Given the description of an element on the screen output the (x, y) to click on. 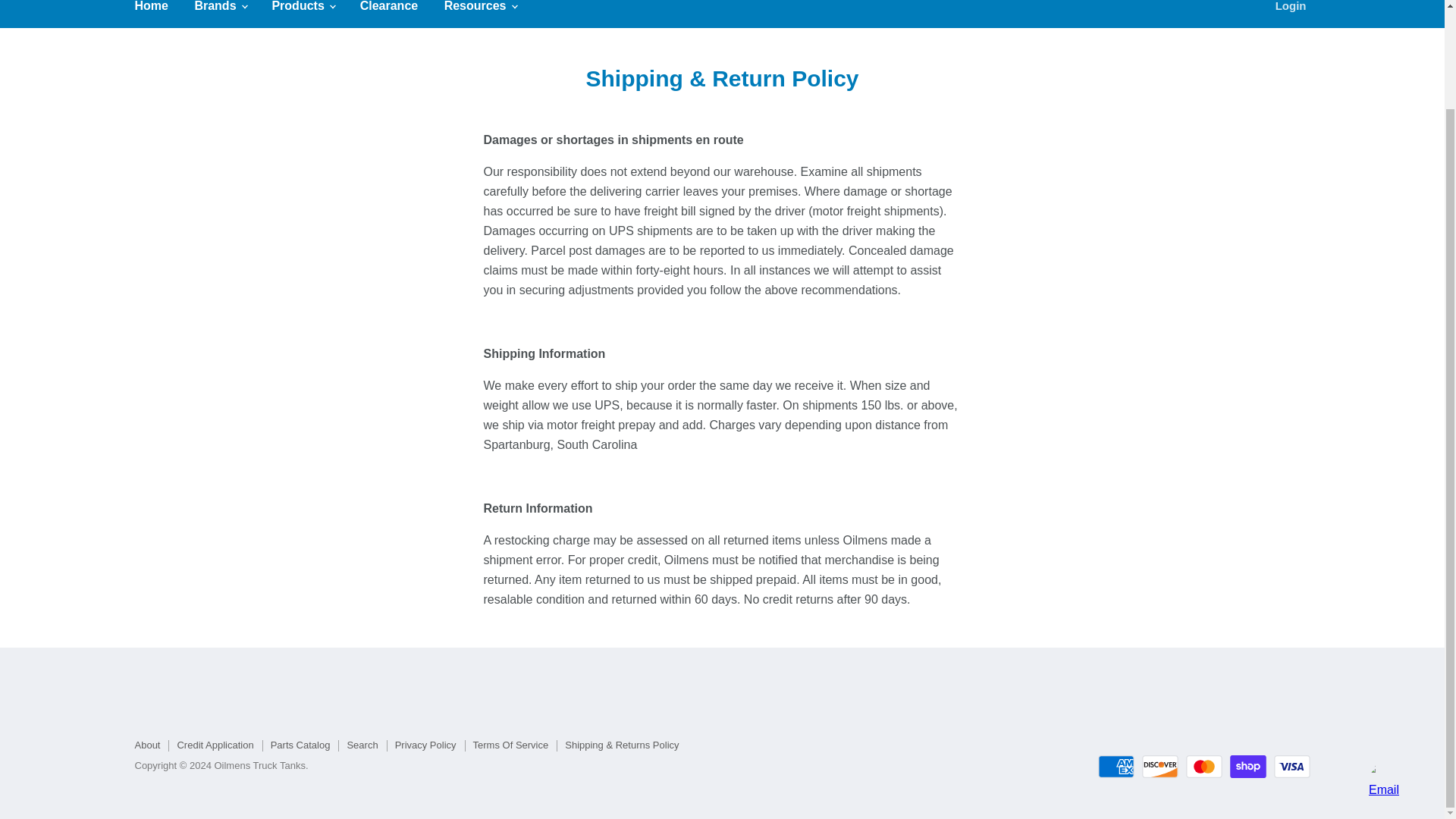
Products (302, 11)
Visa (1292, 766)
Home (150, 11)
Mastercard (1204, 766)
Brands (220, 11)
Discover (1159, 766)
American Express (1115, 766)
Shop Pay (1248, 766)
